Given the description of an element on the screen output the (x, y) to click on. 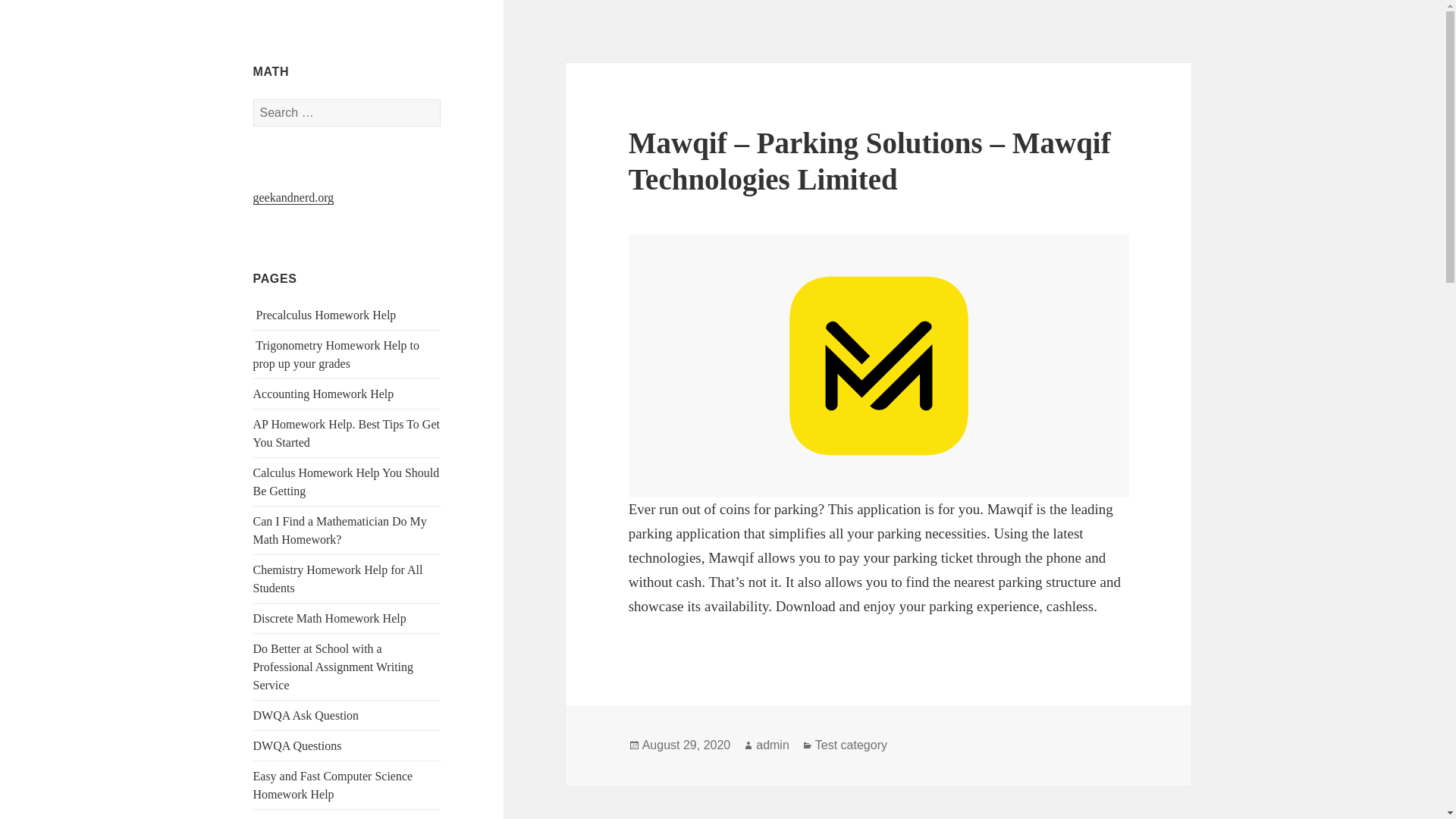
Discrete Math Homework Help (329, 617)
My-HW.org (306, 74)
Calculus Homework Help You Should Be Getting (346, 481)
DWQA Ask Question (306, 715)
 Trigonometry Homework Help to prop up your grades (336, 354)
geekandnerd.org (293, 197)
Chemistry Homework Help for All Students (338, 578)
AP Homework Help. Best Tips To Get You Started (346, 432)
DWQA Questions (297, 745)
Accounting Homework Help (323, 393)
Can I Find a Mathematician Do My Math Homework? (339, 530)
Easy and Fast Computer Science Homework Help (333, 784)
